Given the description of an element on the screen output the (x, y) to click on. 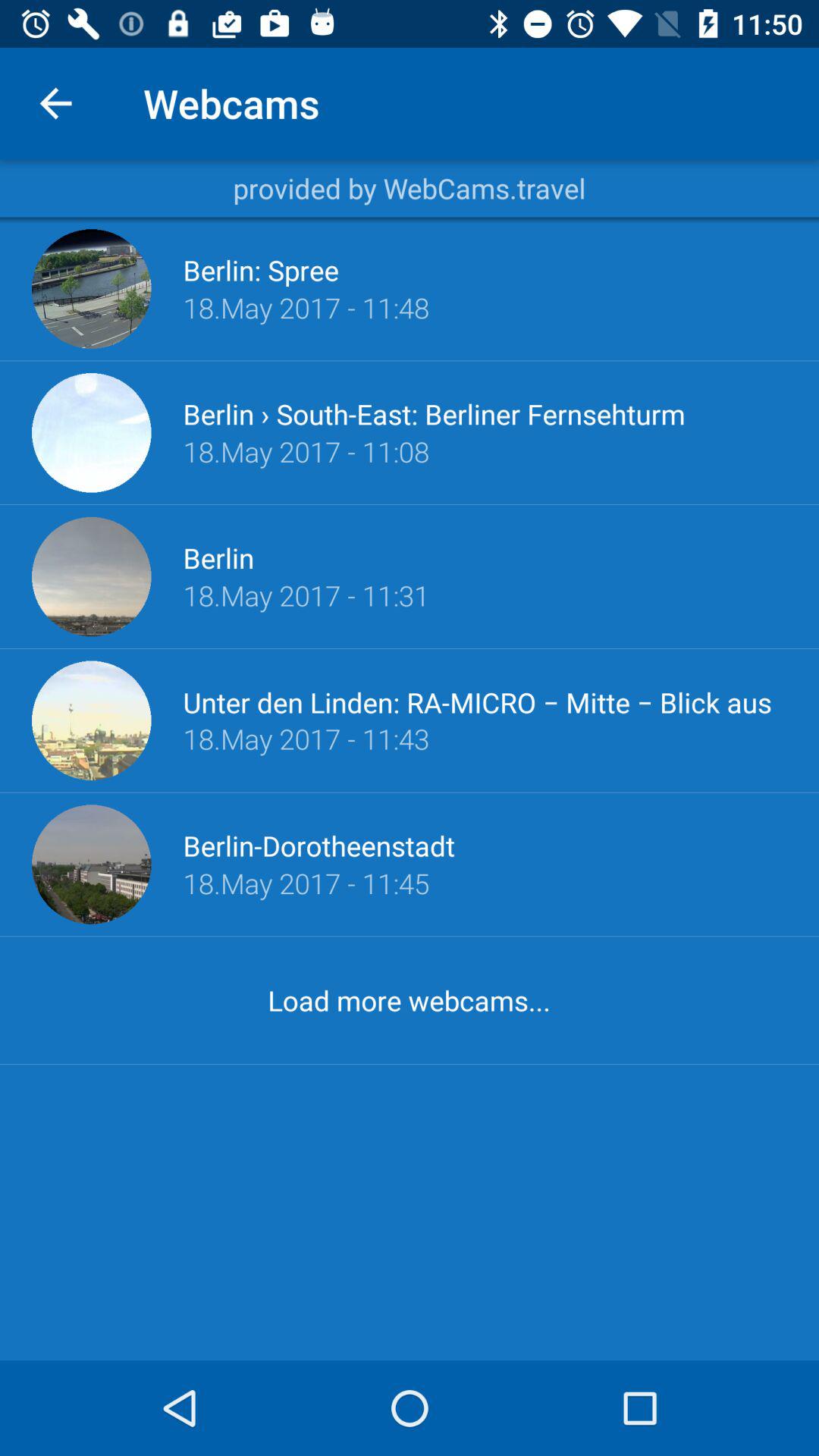
tap the load more webcams... item (408, 1000)
